Given the description of an element on the screen output the (x, y) to click on. 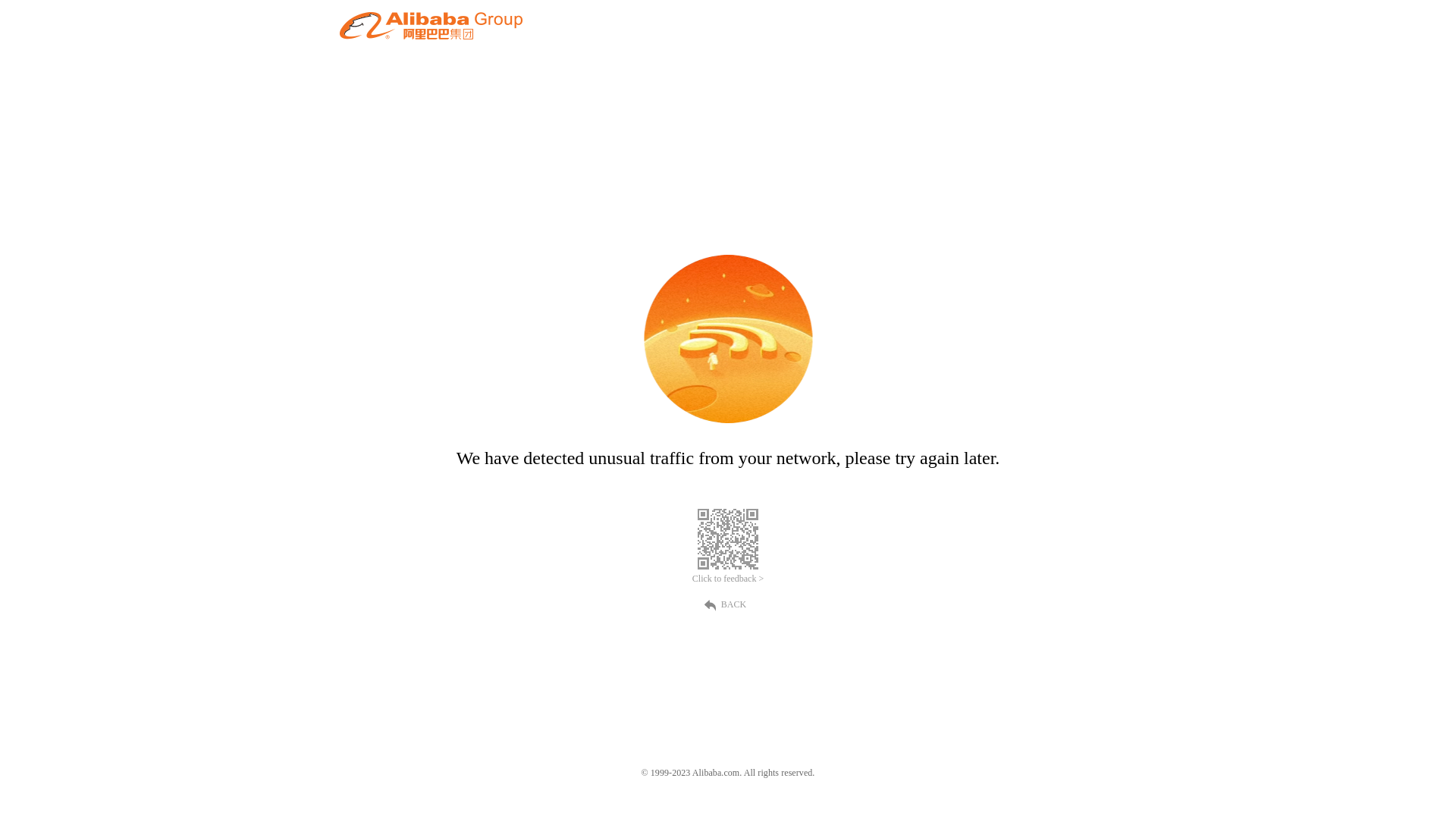
BACK Element type: text (727, 603)
Click to feedback > Element type: text (727, 578)
